Given the description of an element on the screen output the (x, y) to click on. 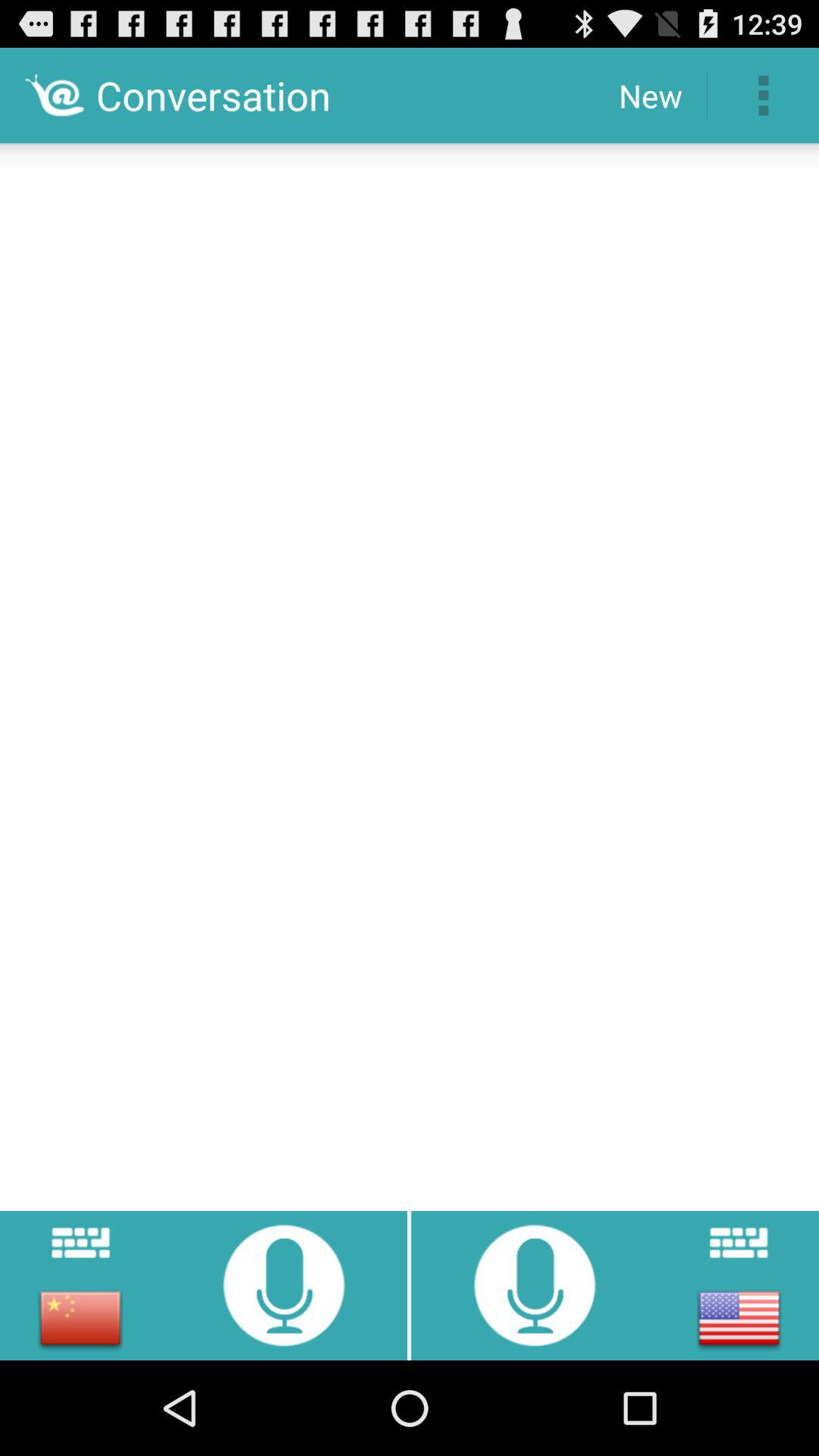
english keyboard (738, 1242)
